Given the description of an element on the screen output the (x, y) to click on. 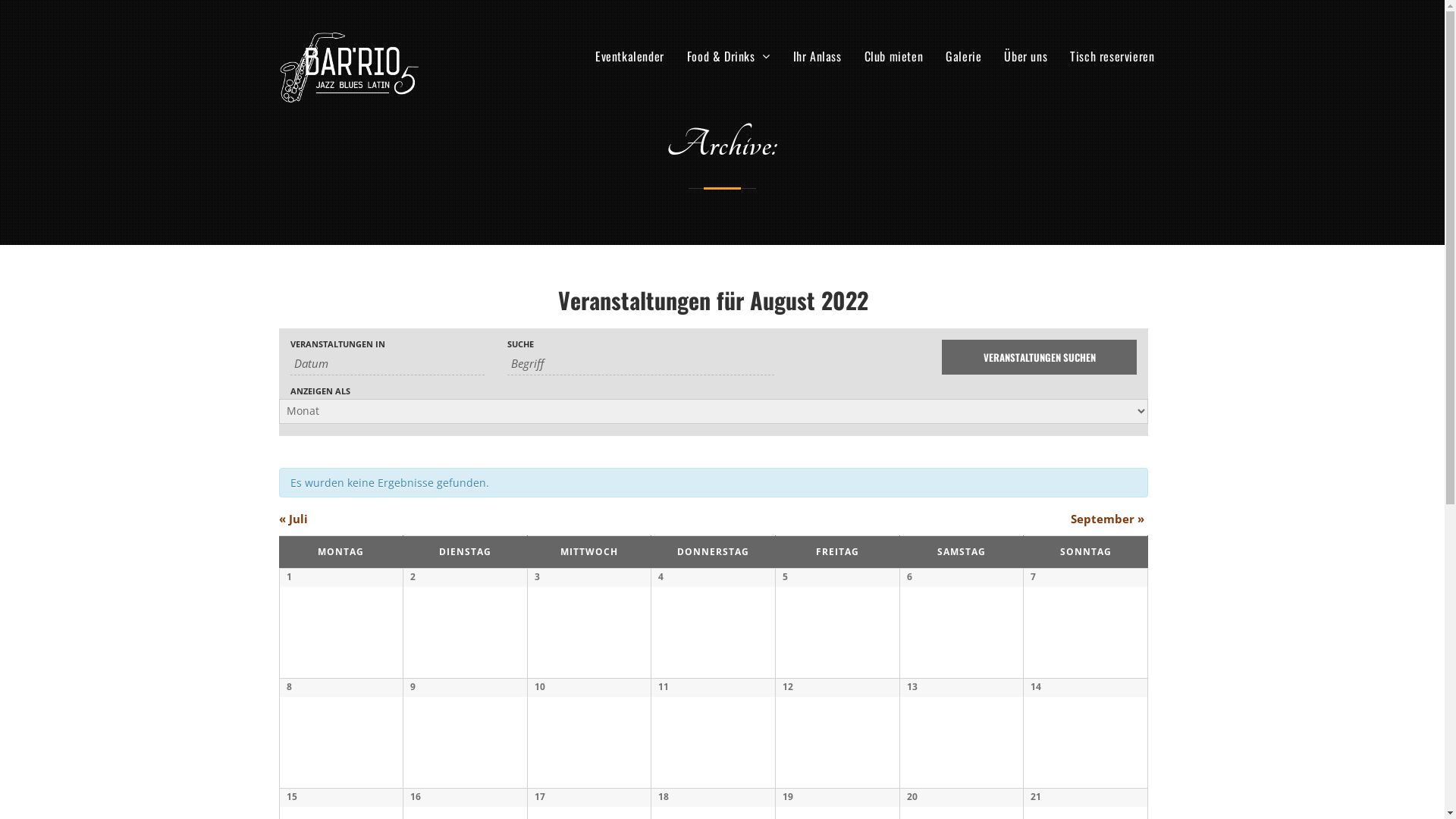
Eventkalender Element type: text (629, 55)
Galerie Element type: text (963, 55)
Club mieten Element type: text (893, 55)
Ihr Anlass Element type: text (817, 55)
Veranstaltungen suchen Element type: text (1038, 356)
Tisch reservieren Element type: text (1111, 55)
Food & Drinks Element type: text (728, 55)
